Given the description of an element on the screen output the (x, y) to click on. 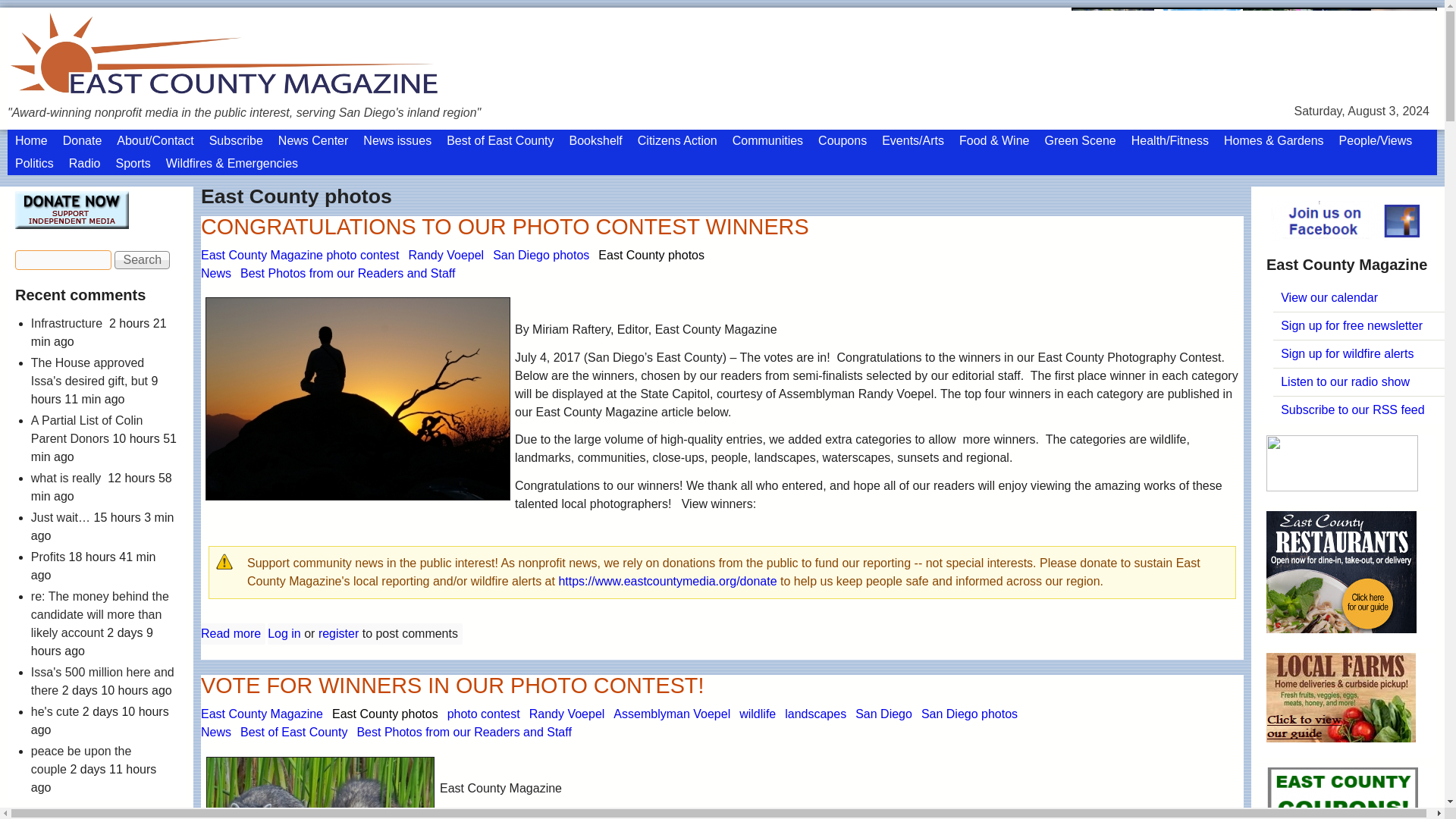
Donate (82, 94)
Best of East County (499, 94)
Search (142, 213)
News Center (312, 94)
Home (31, 94)
Subscribe (236, 94)
News issues (397, 94)
